Given the description of an element on the screen output the (x, y) to click on. 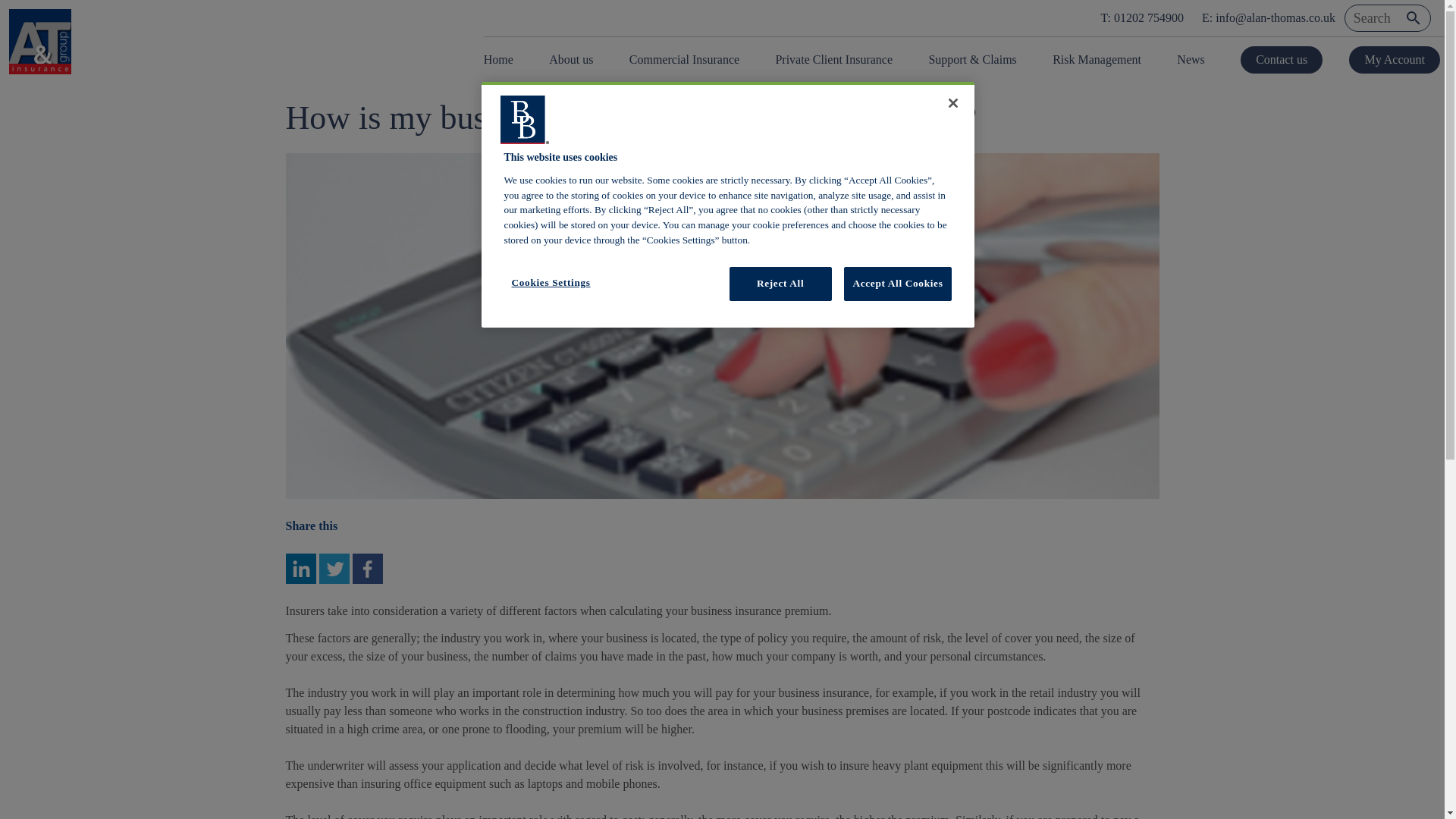
Home (502, 59)
Private Client Insurance (833, 59)
About us (571, 59)
Commercial Insurance (684, 59)
T: 01202 754900 (1142, 17)
